Given the description of an element on the screen output the (x, y) to click on. 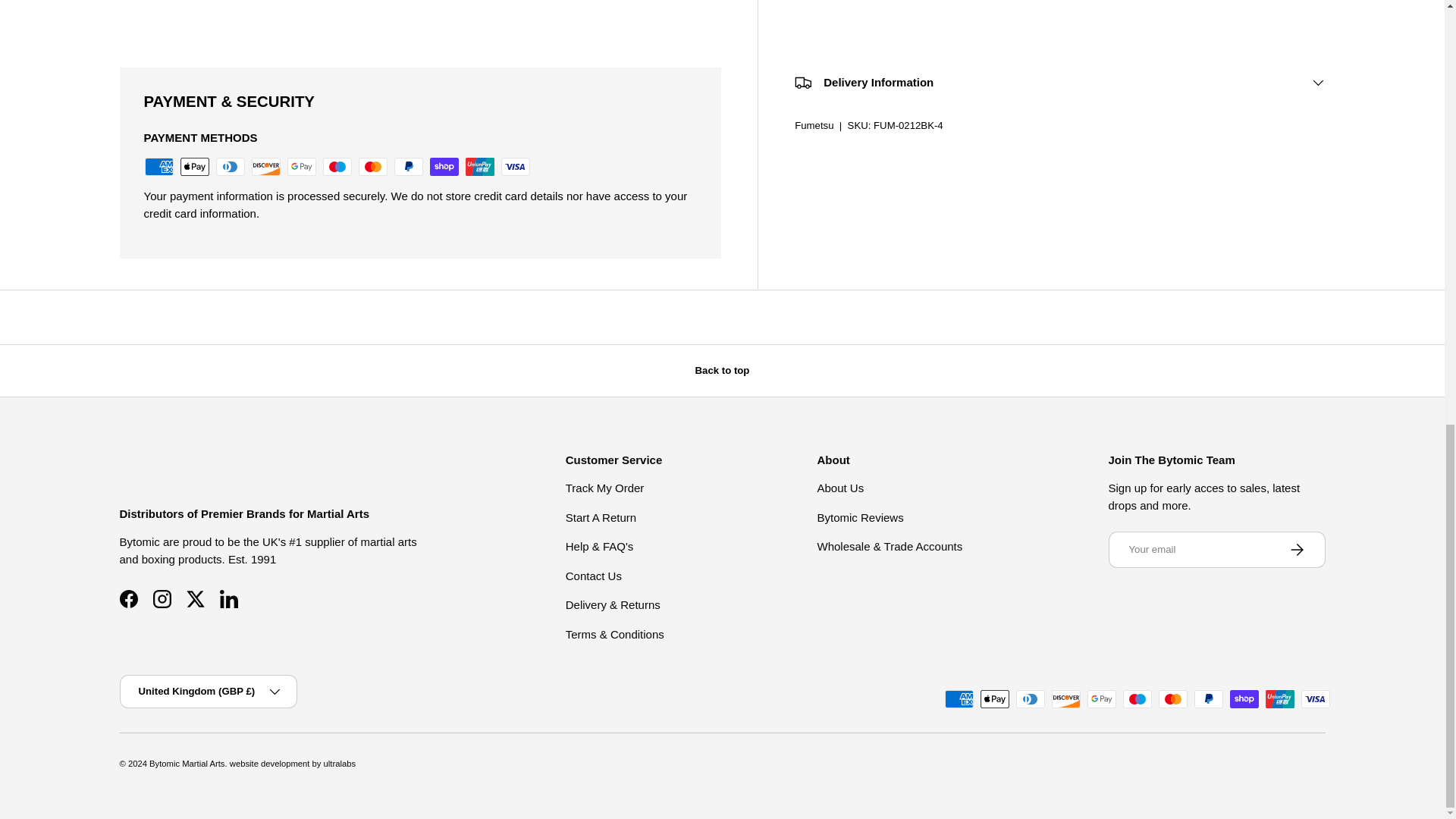
Bytomic Martial Arts on Instagram (162, 598)
Bytomic Martial Arts on Twitter (195, 598)
Bytomic Martial Arts on LinkedIn (229, 598)
Bytomic Martial Arts on Facebook (128, 598)
